Given the description of an element on the screen output the (x, y) to click on. 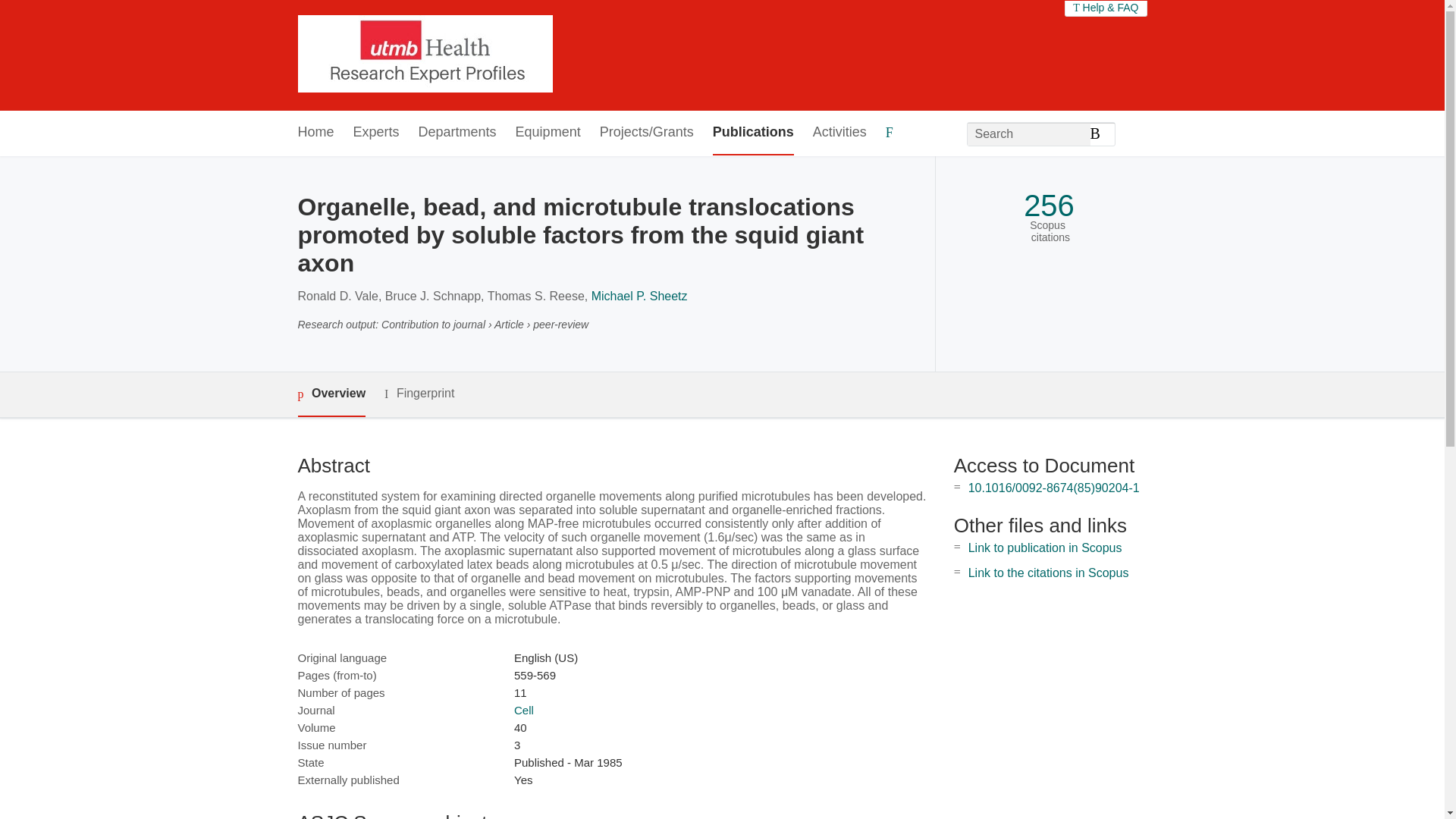
Link to the citations in Scopus (1048, 572)
Link to publication in Scopus (1045, 547)
Experts (375, 132)
Publications (753, 132)
Activities (839, 132)
Cell (523, 709)
Departments (457, 132)
256 (1048, 205)
Michael P. Sheetz (639, 295)
